Given the description of an element on the screen output the (x, y) to click on. 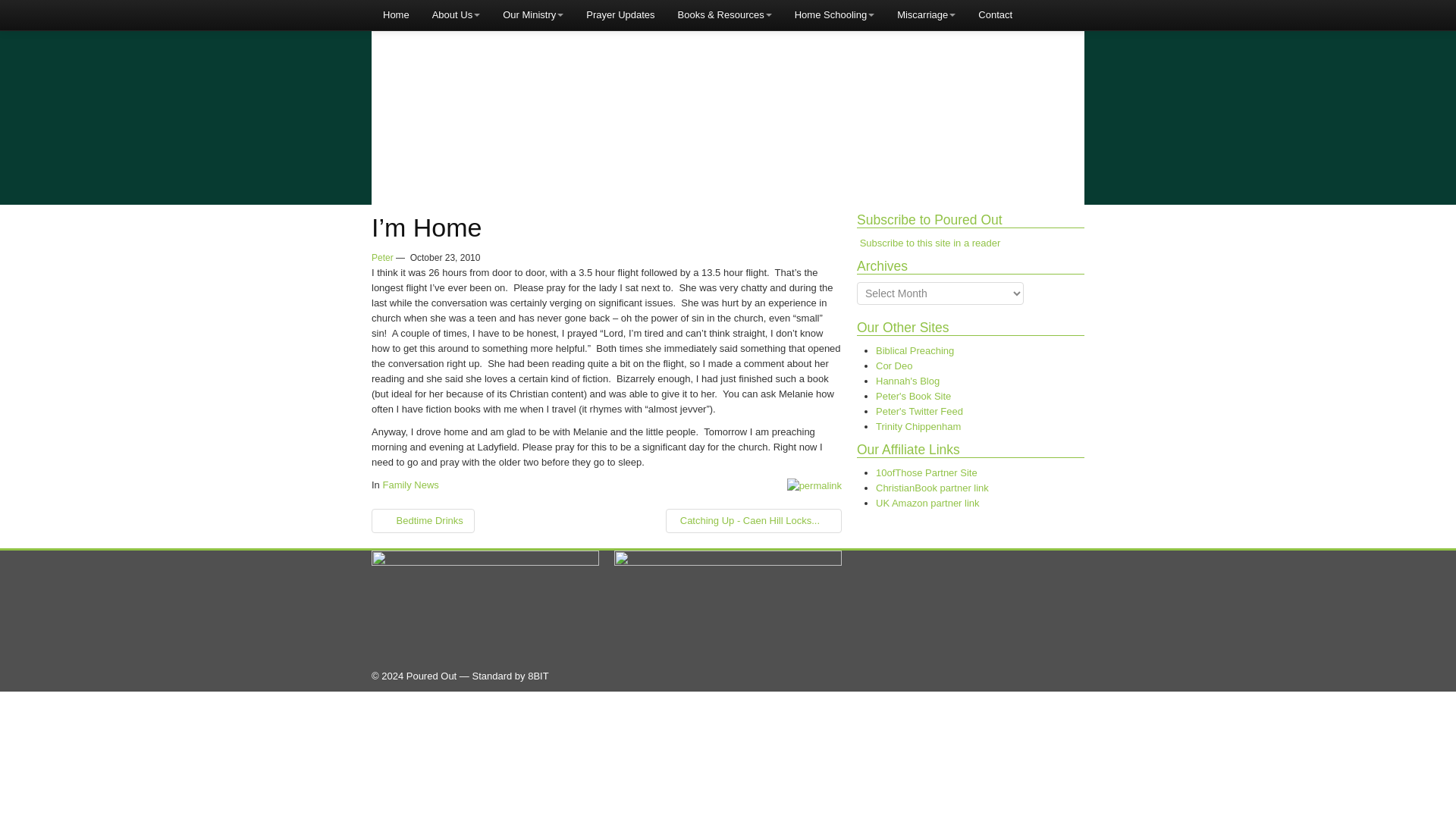
Our Ministry (533, 15)
Miscarriage (925, 15)
Prayer Updates (620, 15)
Home (395, 15)
Home Schooling (834, 15)
Hannah's Blog (907, 380)
 Bedtime Drinks (422, 520)
Peter (382, 257)
Family News (409, 484)
 Catching Up - Caen Hill Locks... (753, 520)
Biblical Preaching (914, 350)
About Us (456, 15)
Subscribe to this site in a reader (930, 242)
Contact (994, 15)
